Given the description of an element on the screen output the (x, y) to click on. 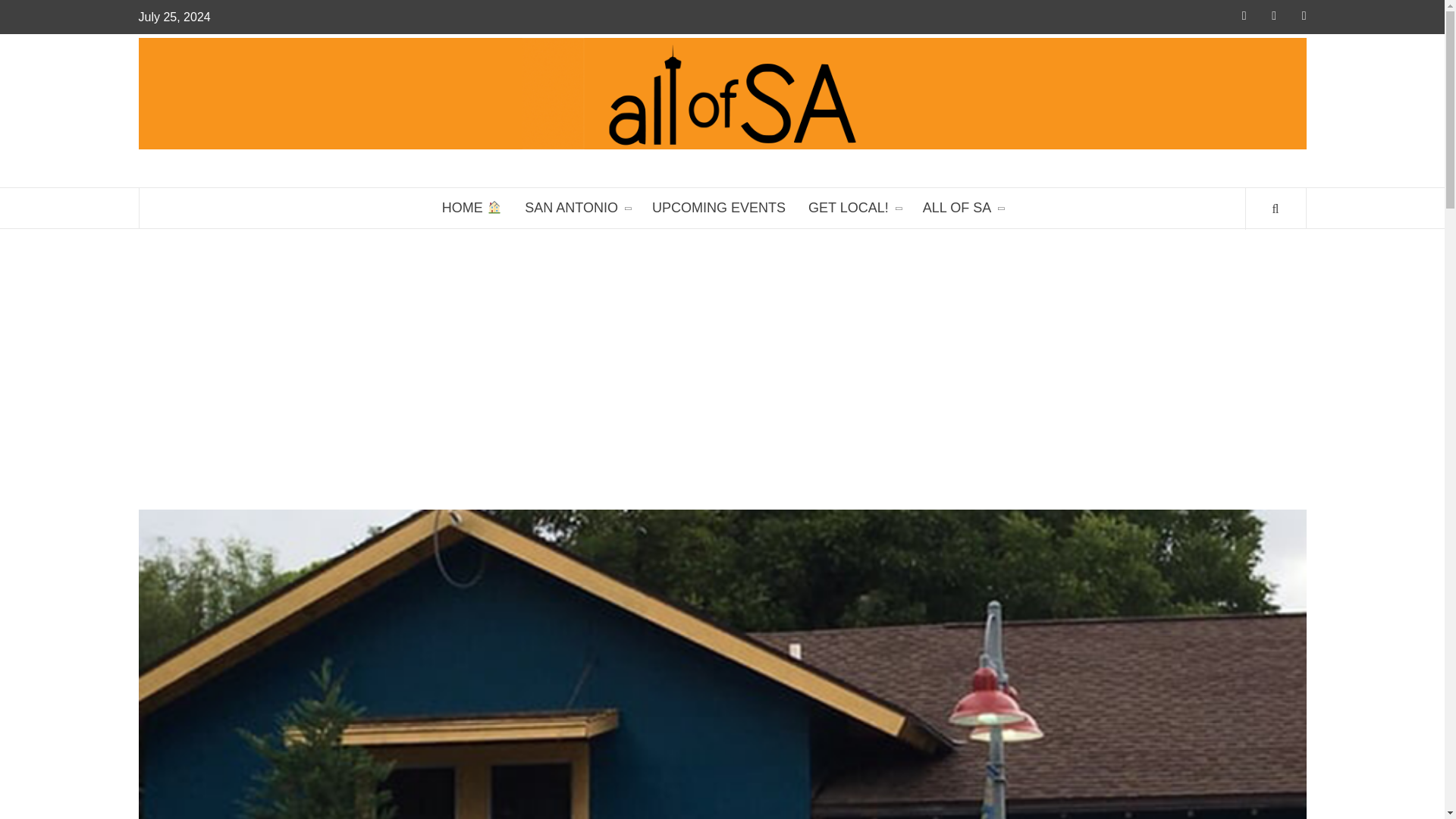
GET LOCAL! (853, 208)
HOME (471, 208)
SAN ANTONIO (576, 208)
UPCOMING EVENTS (718, 208)
